Given the description of an element on the screen output the (x, y) to click on. 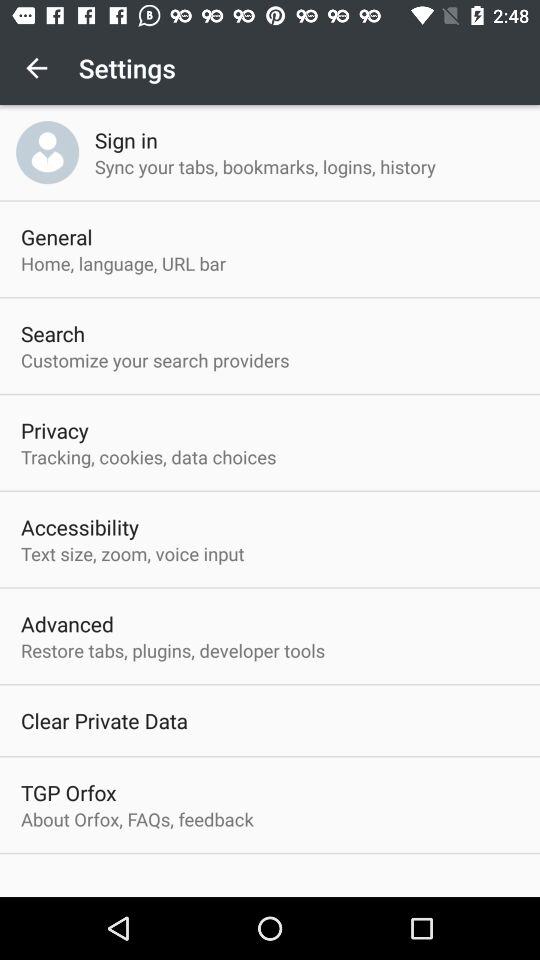
select icon below the clear private data (68, 792)
